Given the description of an element on the screen output the (x, y) to click on. 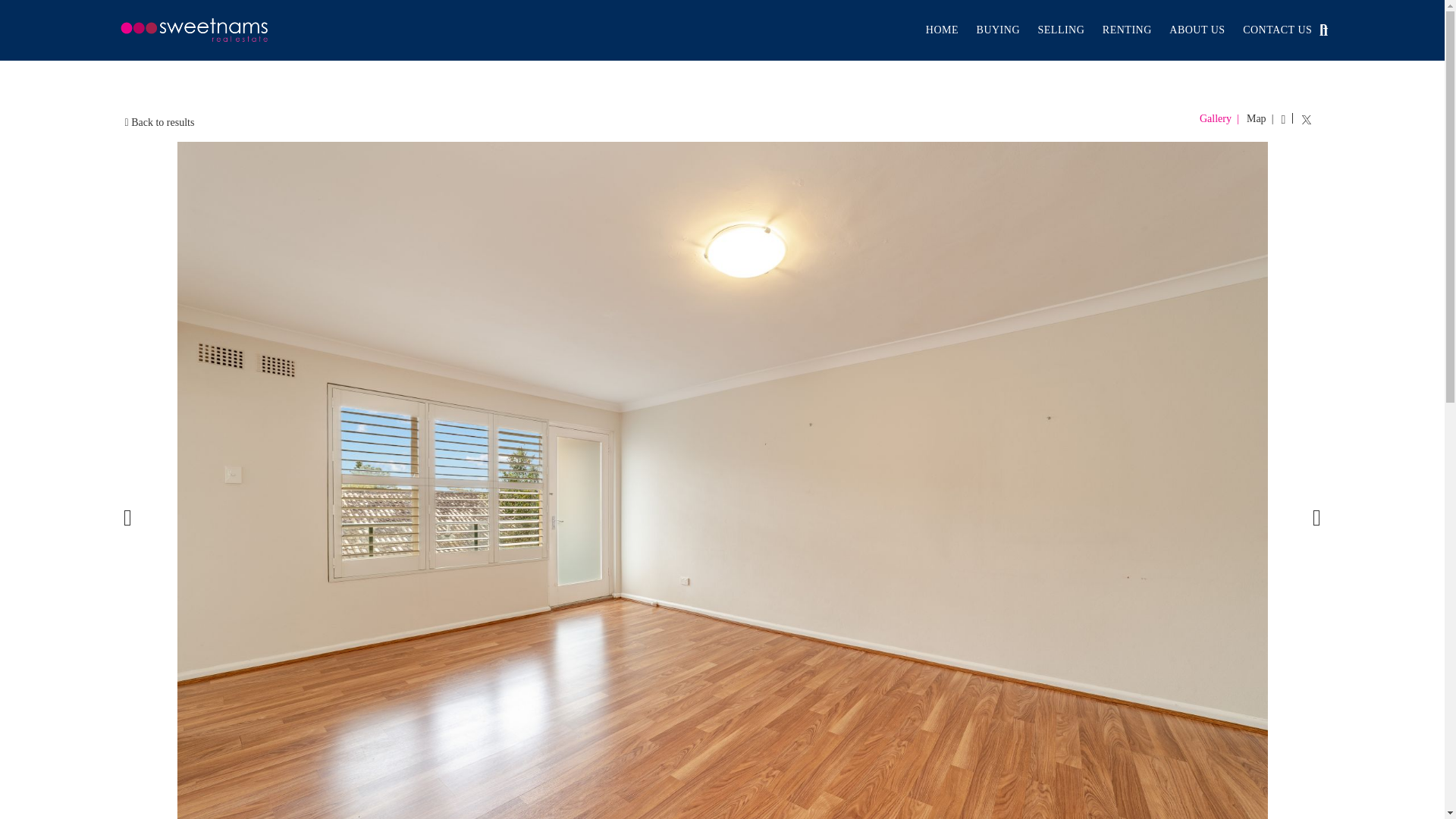
ABOUT US (1196, 30)
Back to results (159, 122)
RENTING (1126, 30)
CONTACT US (1276, 30)
SELLING (1060, 30)
BUYING (998, 30)
